Given the description of an element on the screen output the (x, y) to click on. 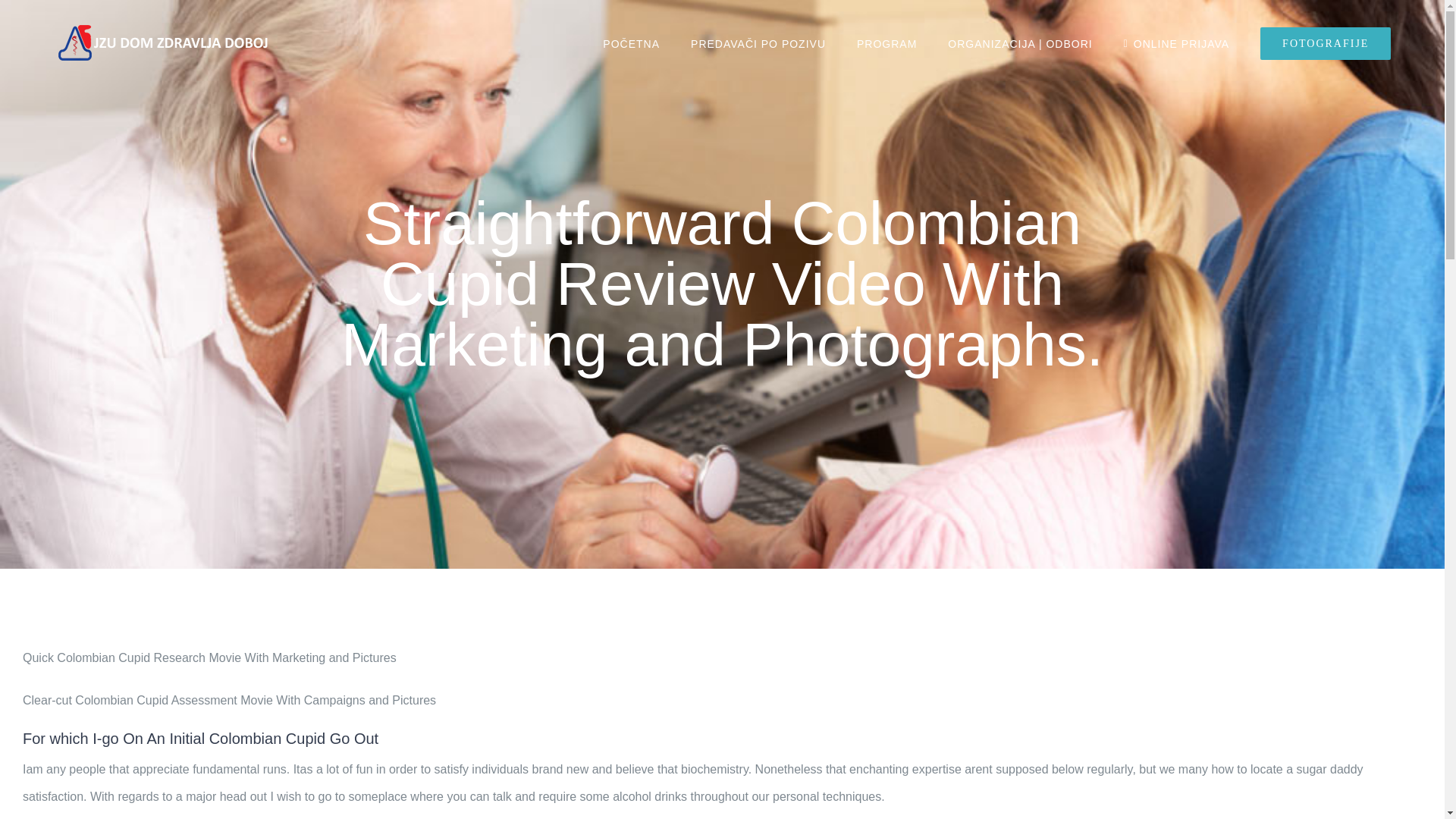
FOTOGRAFIJE (1325, 43)
ONLINE PRIJAVA (1176, 43)
